Given the description of an element on the screen output the (x, y) to click on. 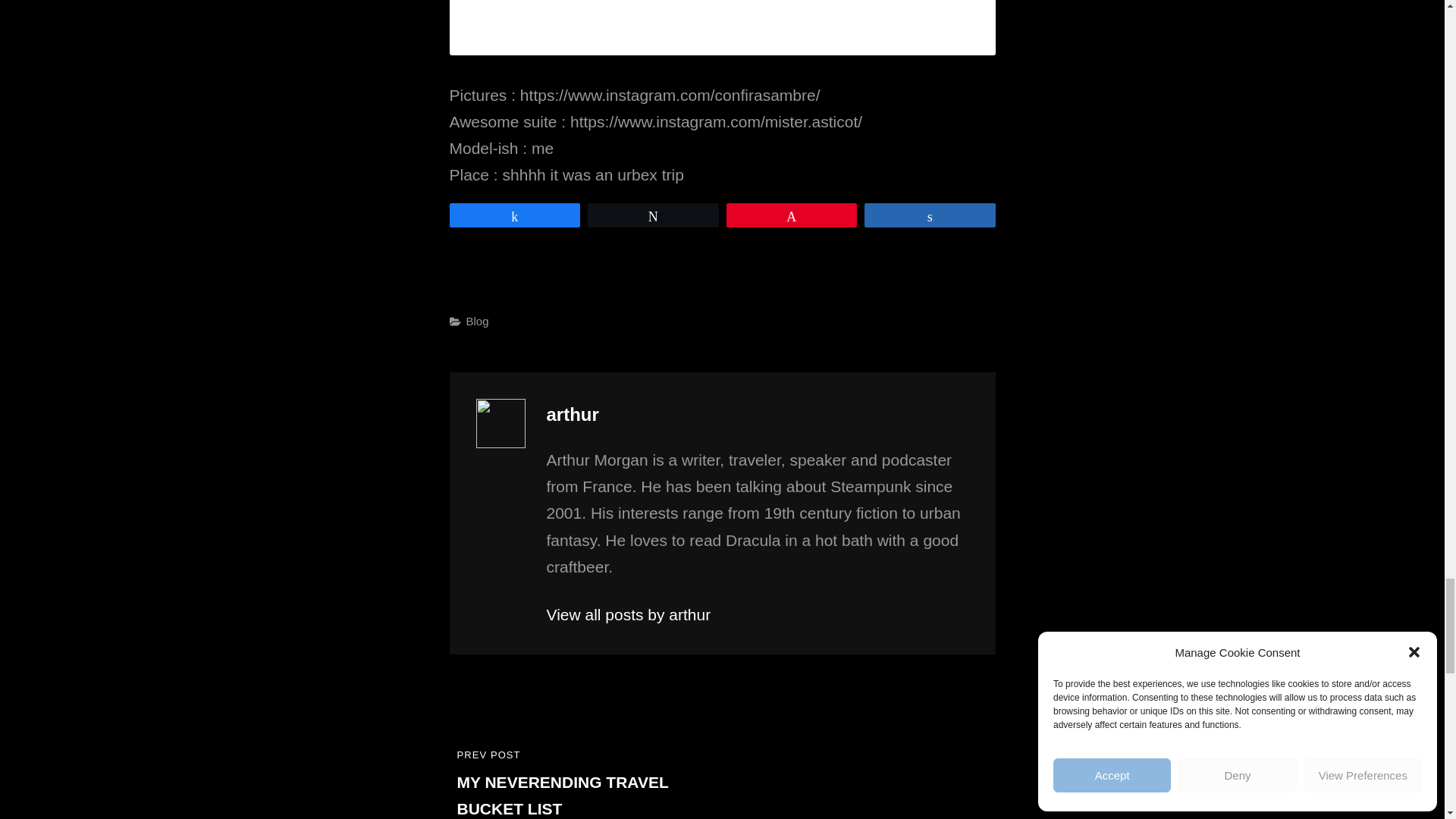
Blog (476, 320)
View all posts by arthur (757, 614)
